Given the description of an element on the screen output the (x, y) to click on. 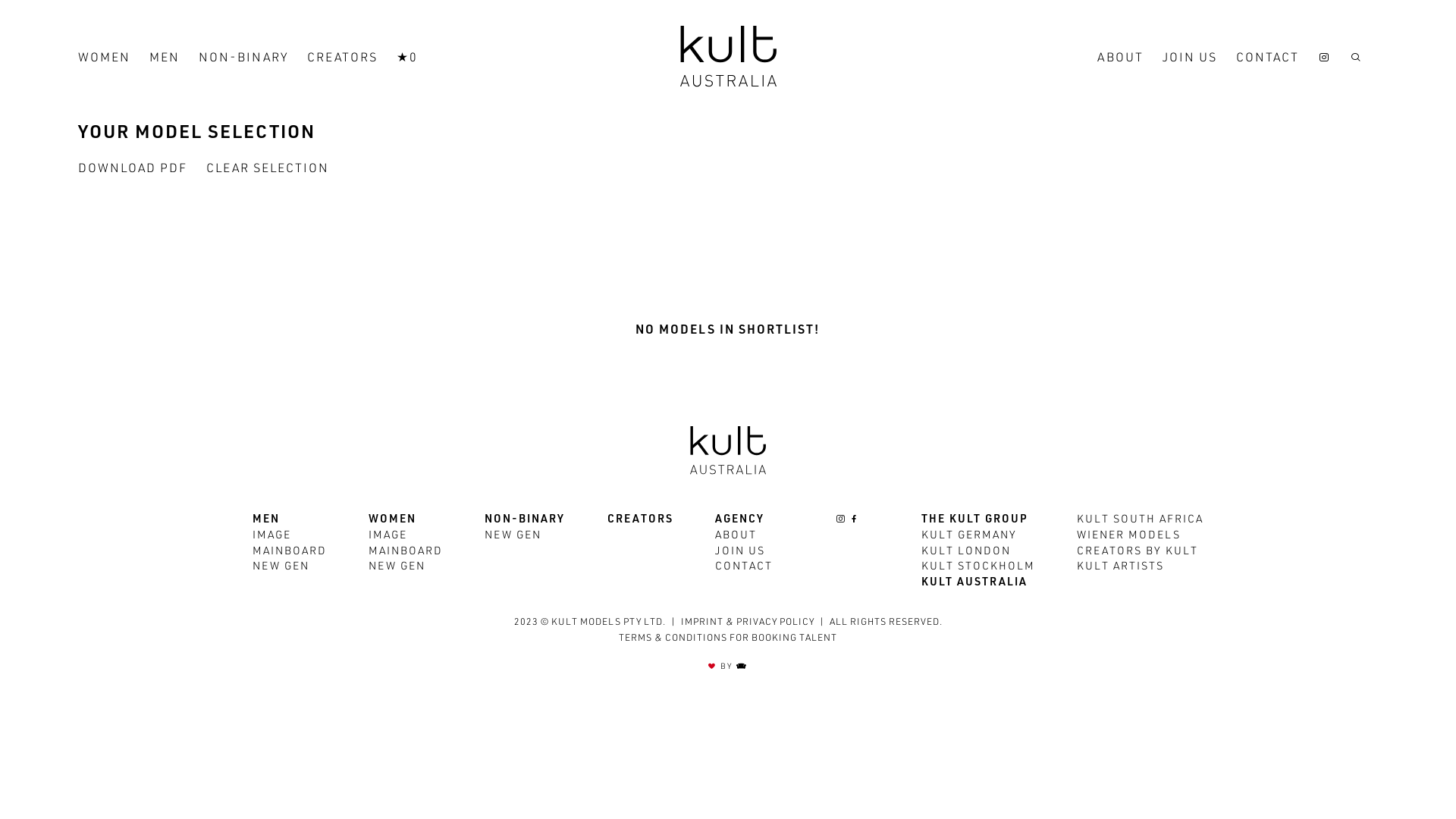
KULT STOCKHOLM Element type: text (978, 566)
NEW GEN Element type: text (280, 566)
CREATORS BY KULT Element type: text (1137, 551)
JOIN US Element type: text (1189, 59)
ABOUT Element type: text (735, 535)
THE KULT GROUP Element type: text (974, 519)
PRIVACY POLICY Element type: text (774, 622)
CREATORS Element type: text (640, 519)
AGENCY Element type: text (739, 519)
JOIN US Element type: text (740, 551)
NON-BINARY Element type: text (243, 59)
KULT GERMANY Element type: text (968, 535)
ABOUT Element type: text (1120, 59)
CREATORS Element type: text (342, 59)
MAINBOARD Element type: text (405, 551)
NEW GEN Element type: text (396, 566)
KULT LONDON Element type: text (965, 551)
WOMEN Element type: text (104, 59)
IMPRINT Element type: text (701, 622)
CONTACT Element type: text (1267, 59)
IMAGE Element type: text (387, 535)
IMAGE Element type: text (271, 535)
NON-BINARY Element type: text (524, 519)
MAINBOARD Element type: text (289, 551)
KULT SOUTH AFRICA Element type: text (1139, 519)
KULT AUSTRALIA Element type: text (974, 582)
WOMEN Element type: text (392, 519)
MEN Element type: text (265, 519)
MEN Element type: text (164, 59)
CONTACT Element type: text (743, 566)
TERMS & CONDITIONS FOR BOOKING TALENT Element type: text (727, 638)
NEW GEN Element type: text (512, 535)
WIENER MODELS Element type: text (1128, 535)
KULT ARTISTS Element type: text (1120, 566)
